Given the description of an element on the screen output the (x, y) to click on. 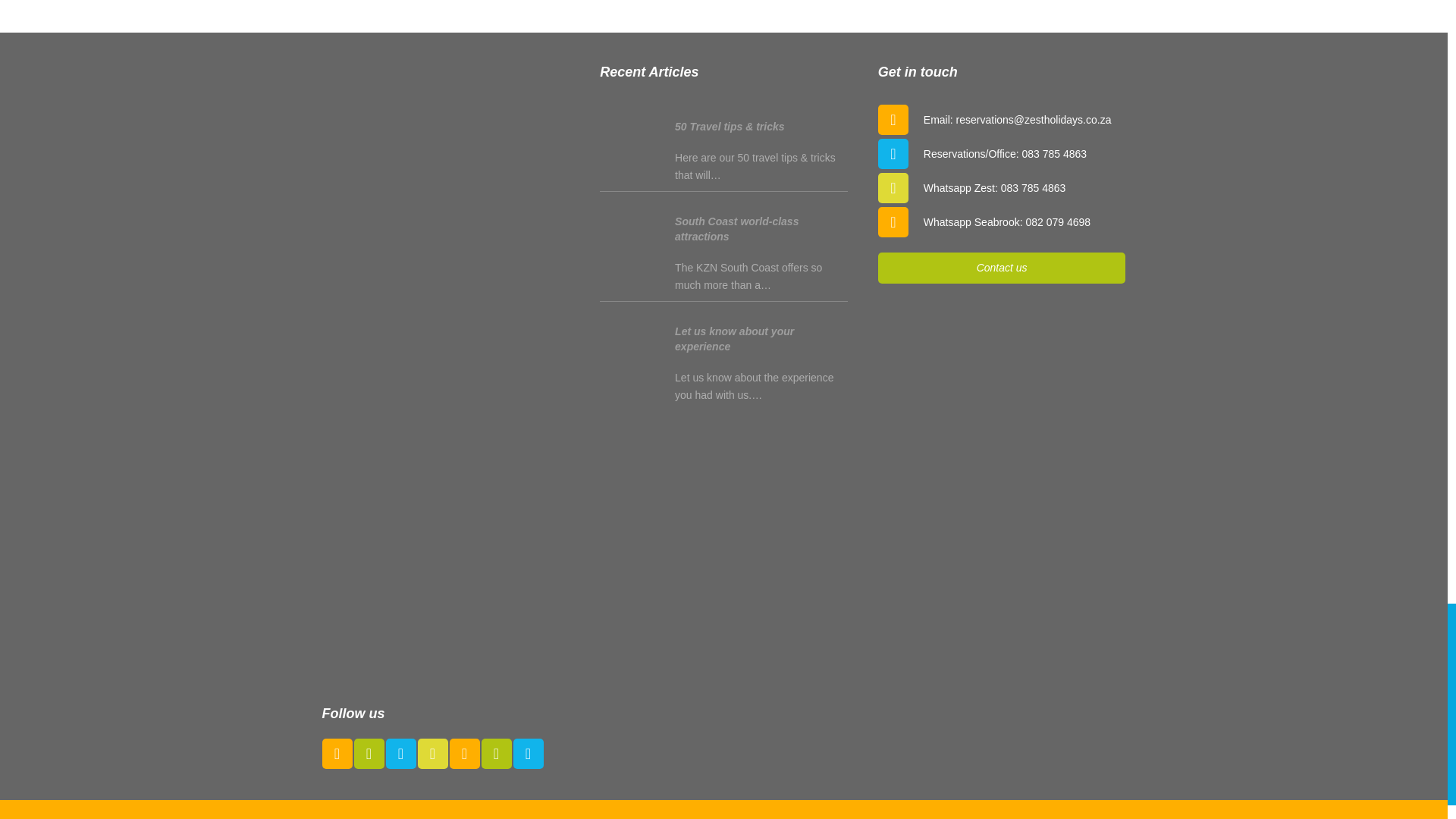
Find Zest on Facbook (336, 753)
Find Zest on Twitter (368, 753)
